Given the description of an element on the screen output the (x, y) to click on. 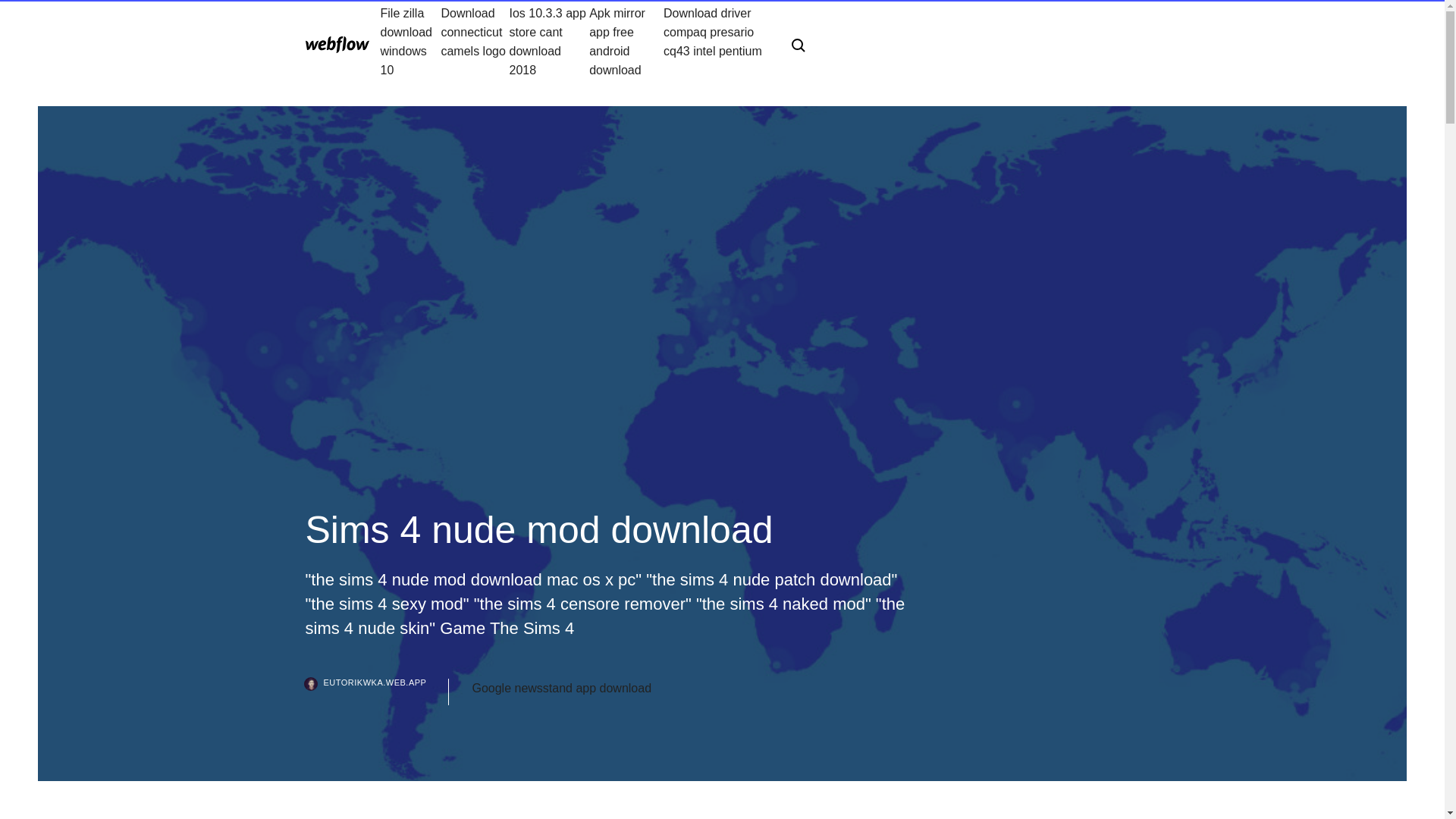
Google newsstand app download (560, 687)
Apk mirror app free android download (626, 41)
Ios 10.3.3 app store cant download 2018 (548, 41)
EUTORIKWKA.WEB.APP (376, 691)
Download connecticut camels logo (474, 41)
Download driver compaq presario cq43 intel pentium (715, 41)
